Given the description of an element on the screen output the (x, y) to click on. 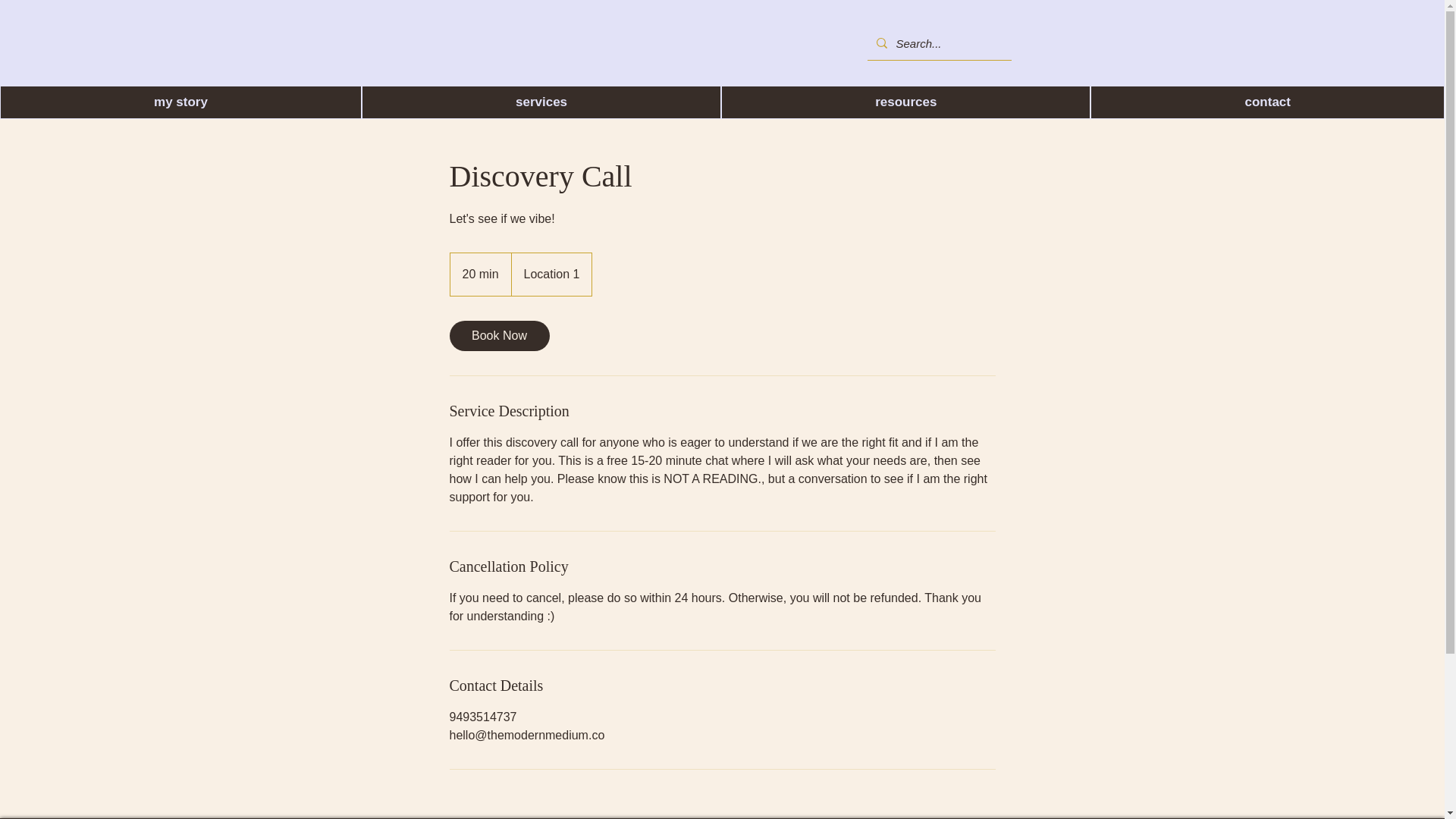
my story (180, 101)
Book Now (498, 336)
